Given the description of an element on the screen output the (x, y) to click on. 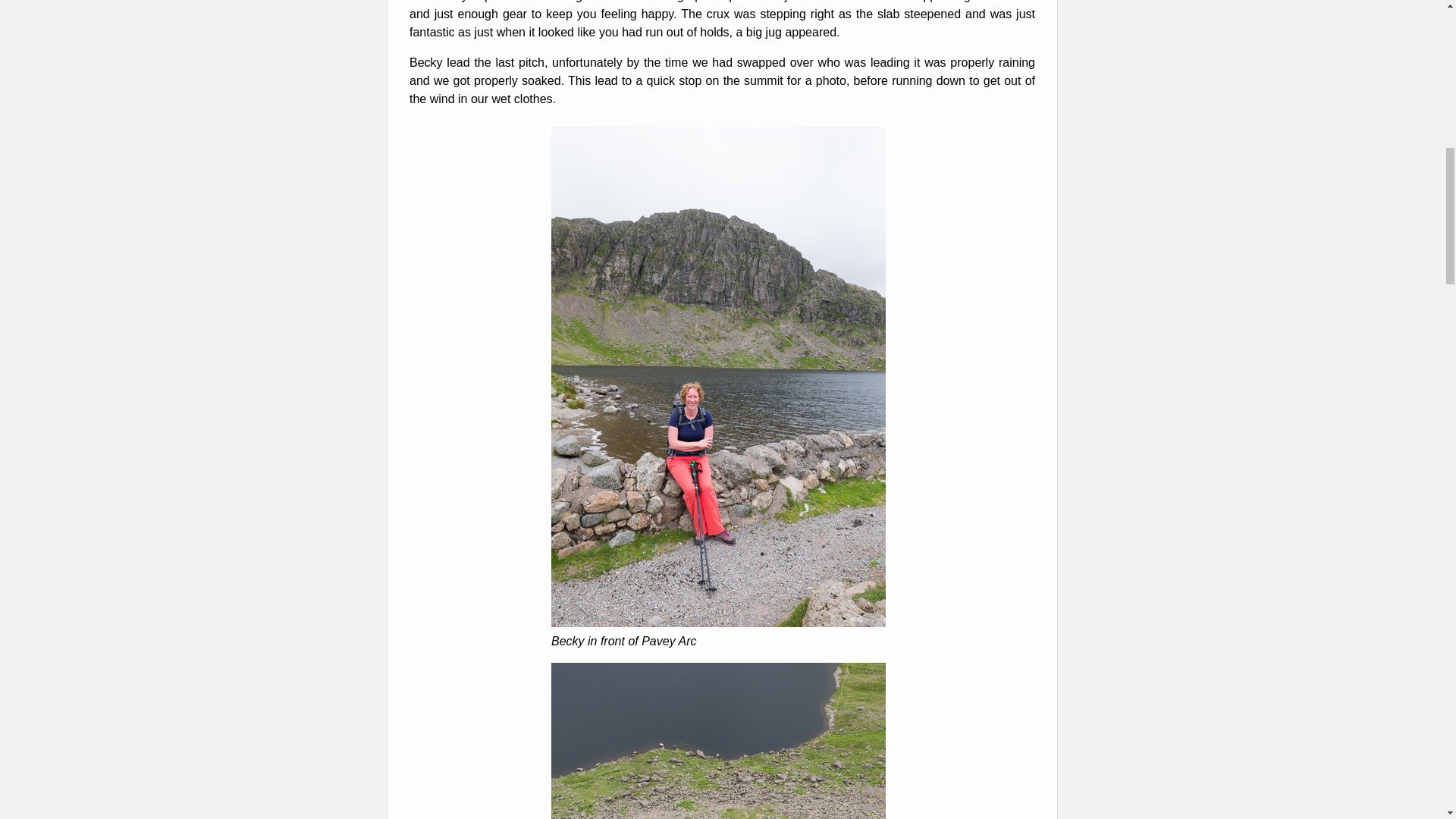
Becky in front of Pavey Arc (718, 622)
